Given the description of an element on the screen output the (x, y) to click on. 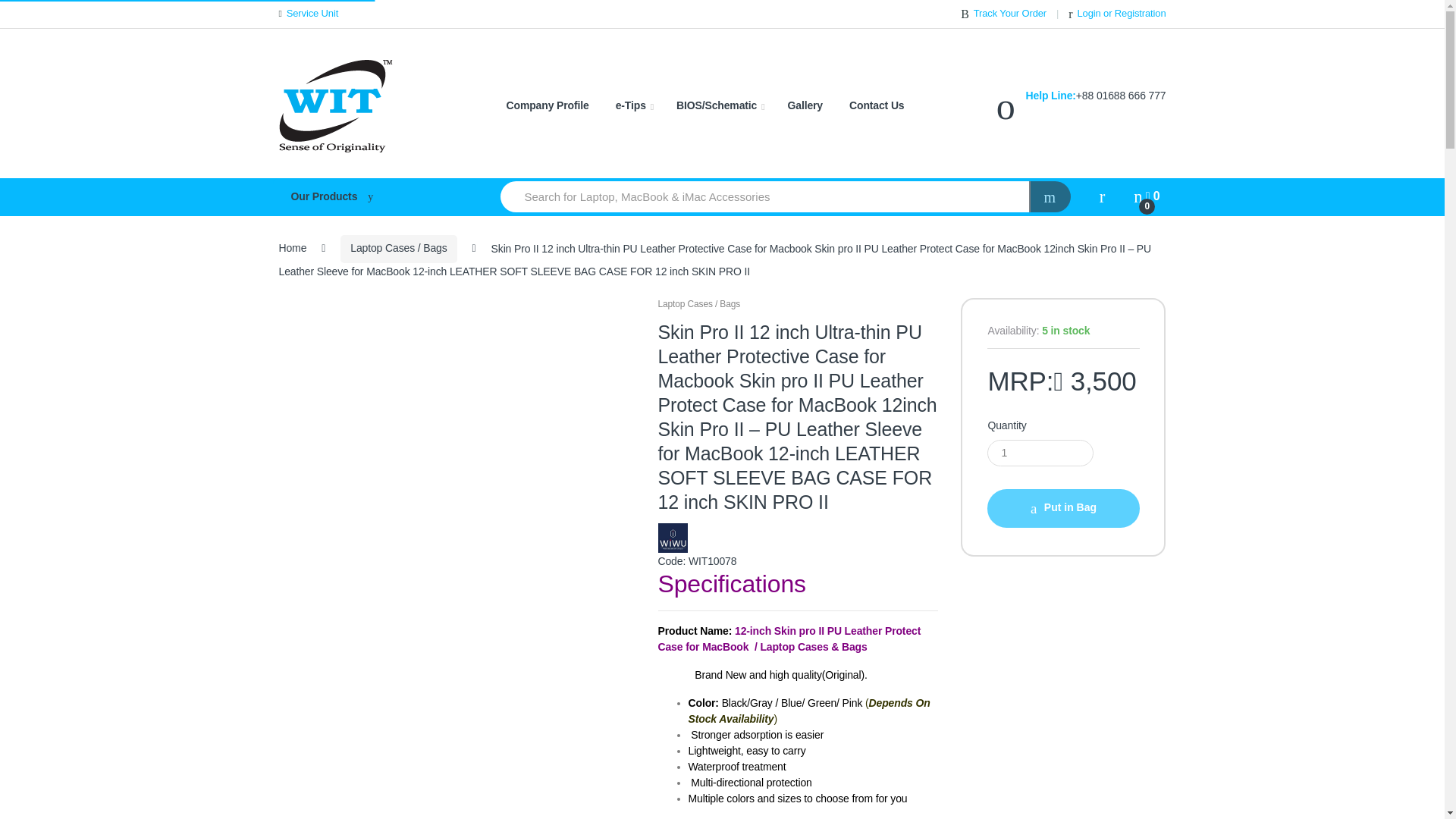
Skip to content (34, 9)
e-Tips (634, 105)
Login or Registration (1117, 13)
Track Your Order (1003, 13)
1 (1040, 452)
Skip to navigation (40, 9)
Company Profile (547, 105)
Service Unit (309, 13)
